Given the description of an element on the screen output the (x, y) to click on. 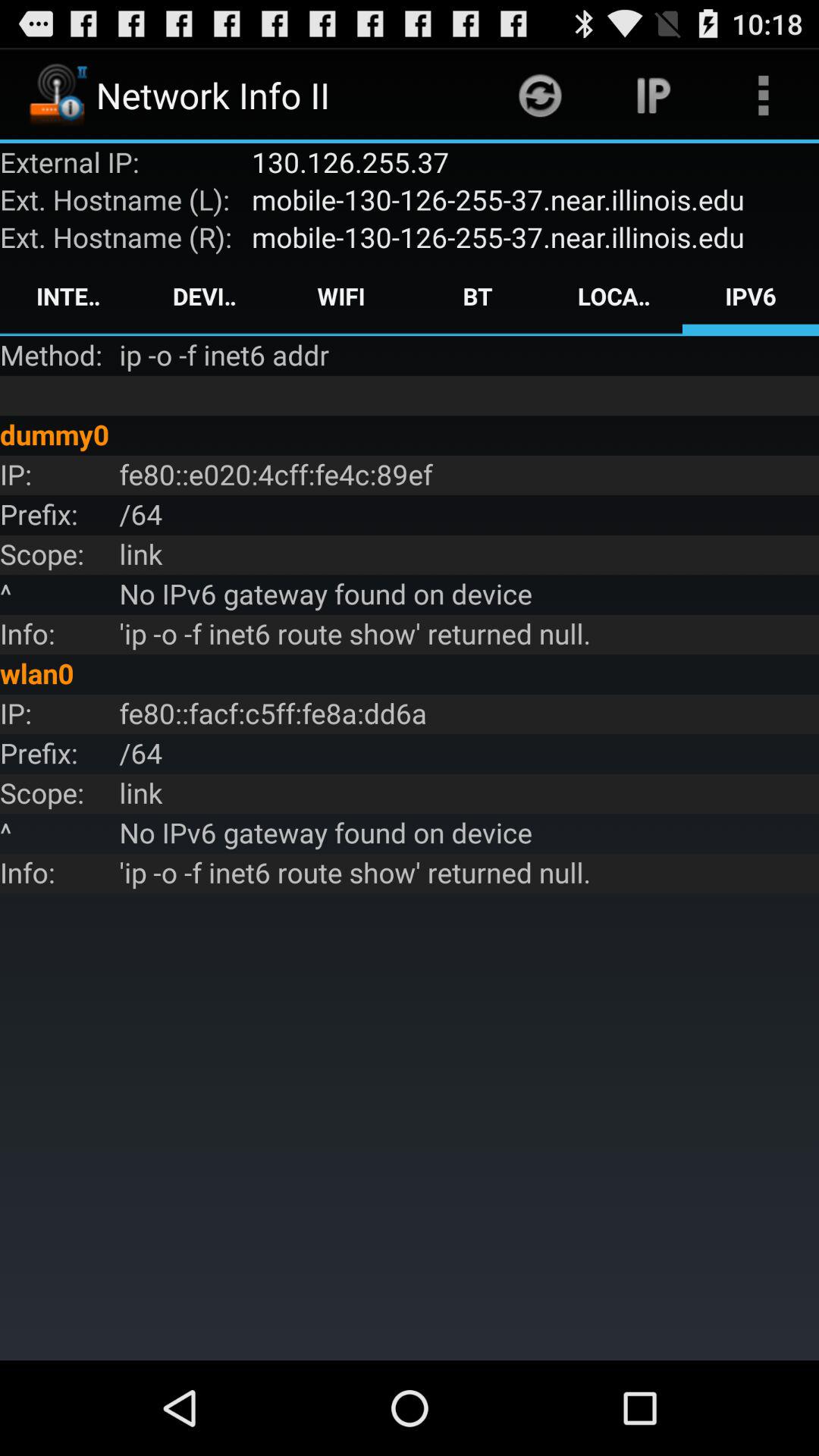
flip to the bt icon (477, 295)
